Given the description of an element on the screen output the (x, y) to click on. 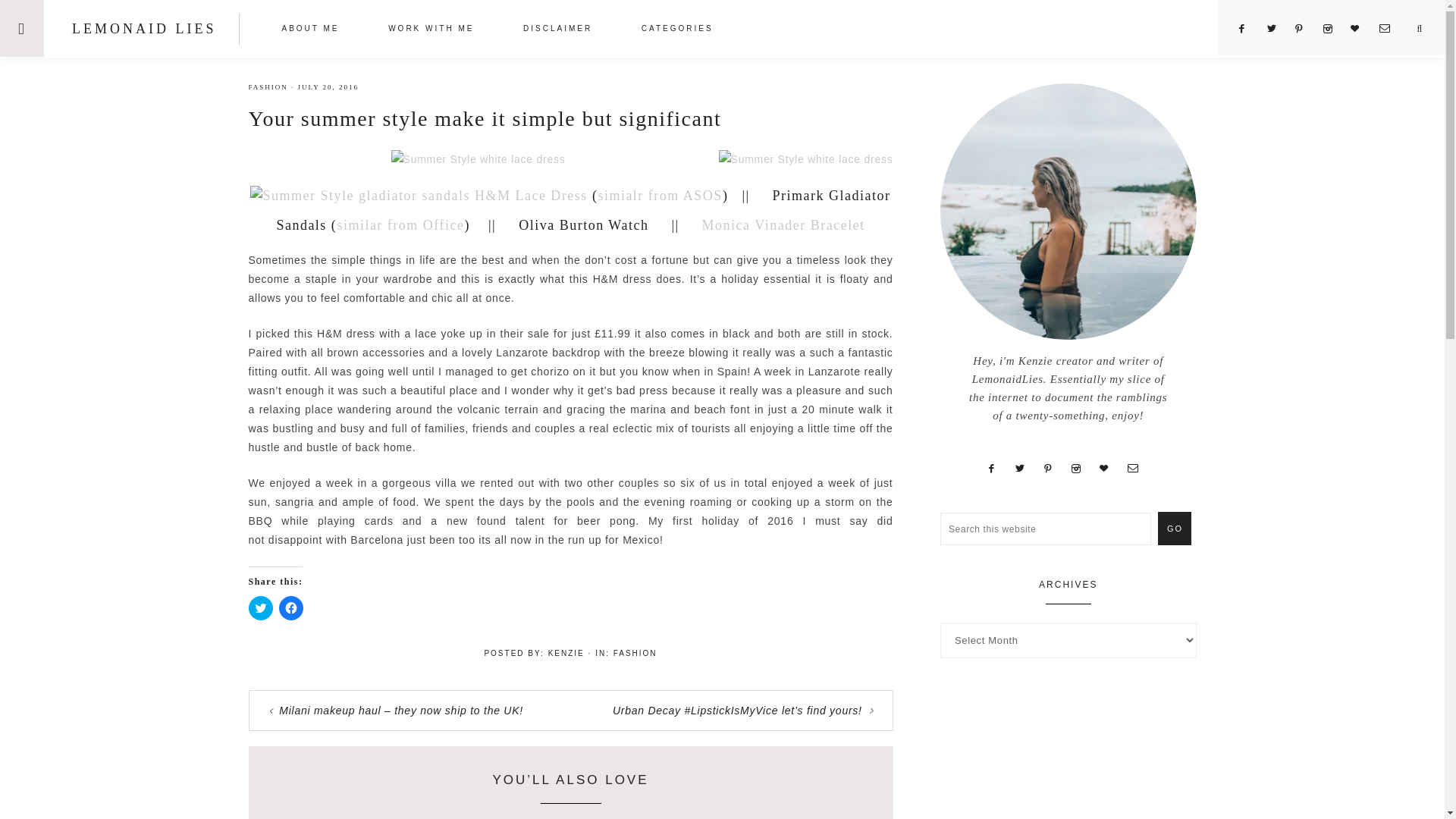
Pinterest (1305, 29)
Email Me (1390, 29)
Click to share on Twitter (260, 607)
GO (1174, 527)
LEMONAID LIES (143, 28)
Facebook (1248, 29)
Instagram (1332, 29)
WORK WITH ME (430, 29)
CATEGORIES (677, 29)
DISCLAIMER (557, 29)
GO (1174, 527)
Twitter (1277, 29)
Bloglovin (1361, 29)
Click to share on Facebook (290, 607)
FASHION (268, 86)
